Given the description of an element on the screen output the (x, y) to click on. 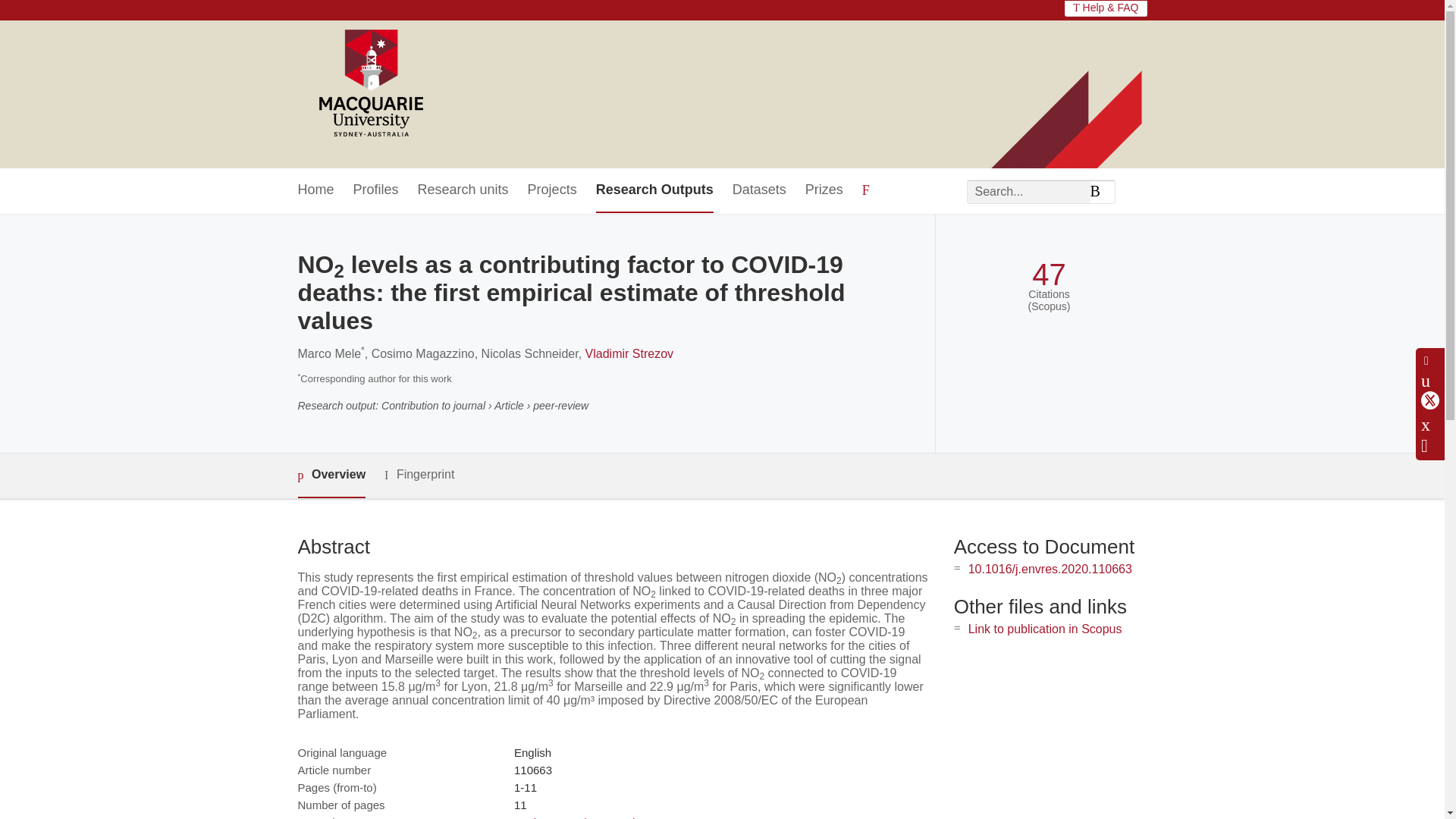
Datasets (759, 190)
Research Outputs (654, 190)
Projects (551, 190)
Overview (331, 475)
Profiles (375, 190)
Fingerprint (419, 474)
47 (1048, 274)
Link to publication in Scopus (1045, 628)
Research units (462, 190)
Vladimir Strezov (628, 353)
Macquarie University Home (369, 84)
Environmental Research (576, 817)
